Given the description of an element on the screen output the (x, y) to click on. 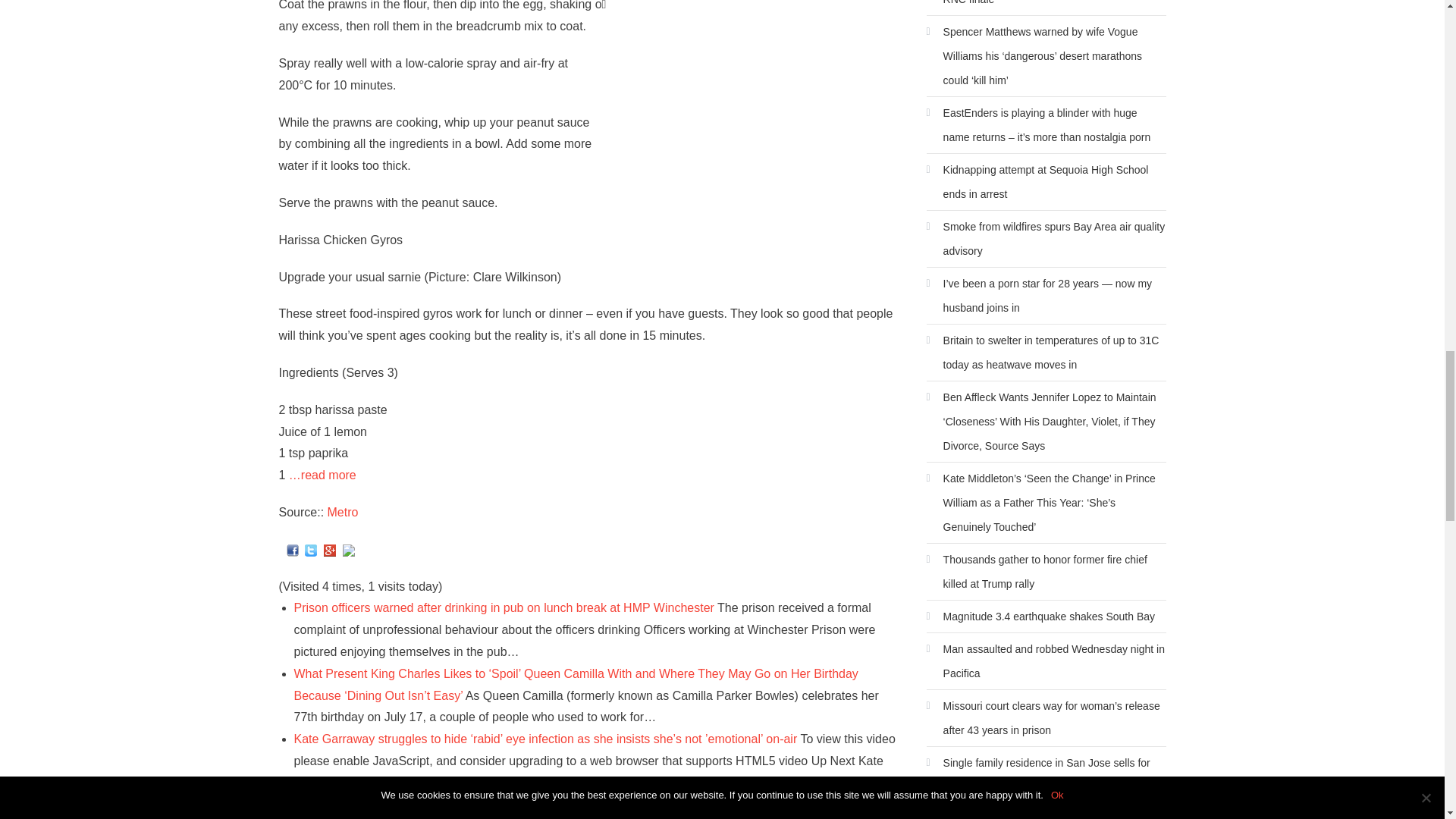
Metro (342, 512)
